Given the description of an element on the screen output the (x, y) to click on. 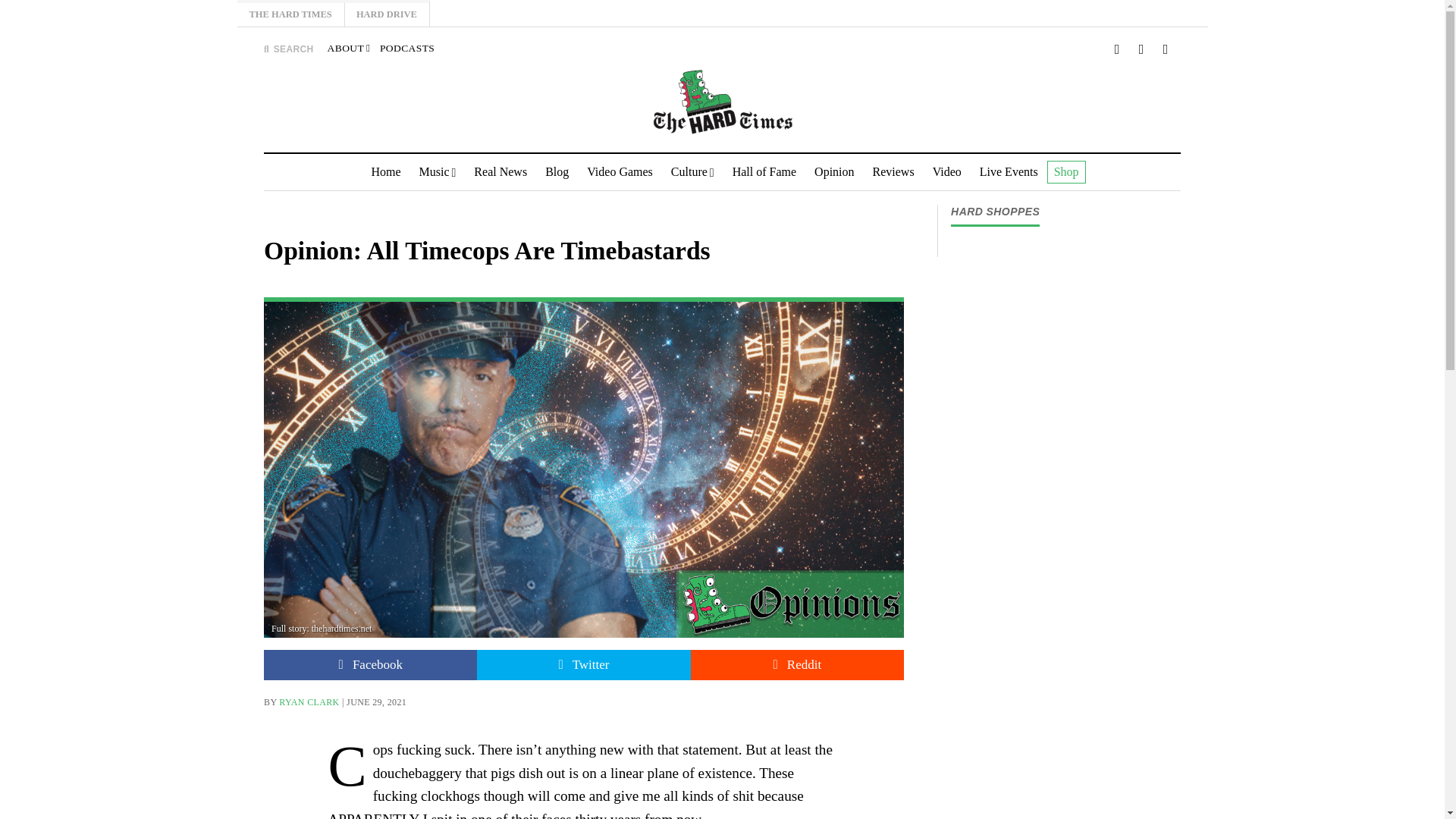
instagram (1166, 49)
PODCASTS (406, 48)
Search (943, 141)
THE HARD TIMES (289, 14)
ABOUT (349, 48)
Home (385, 171)
SEARCH (288, 48)
HARD DRIVE (386, 14)
twitter (1117, 49)
Real News (499, 171)
Posts by Ryan Clark (309, 701)
Music (437, 171)
facebook (1141, 49)
Video Games (620, 171)
Blog (556, 171)
